Given the description of an element on the screen output the (x, y) to click on. 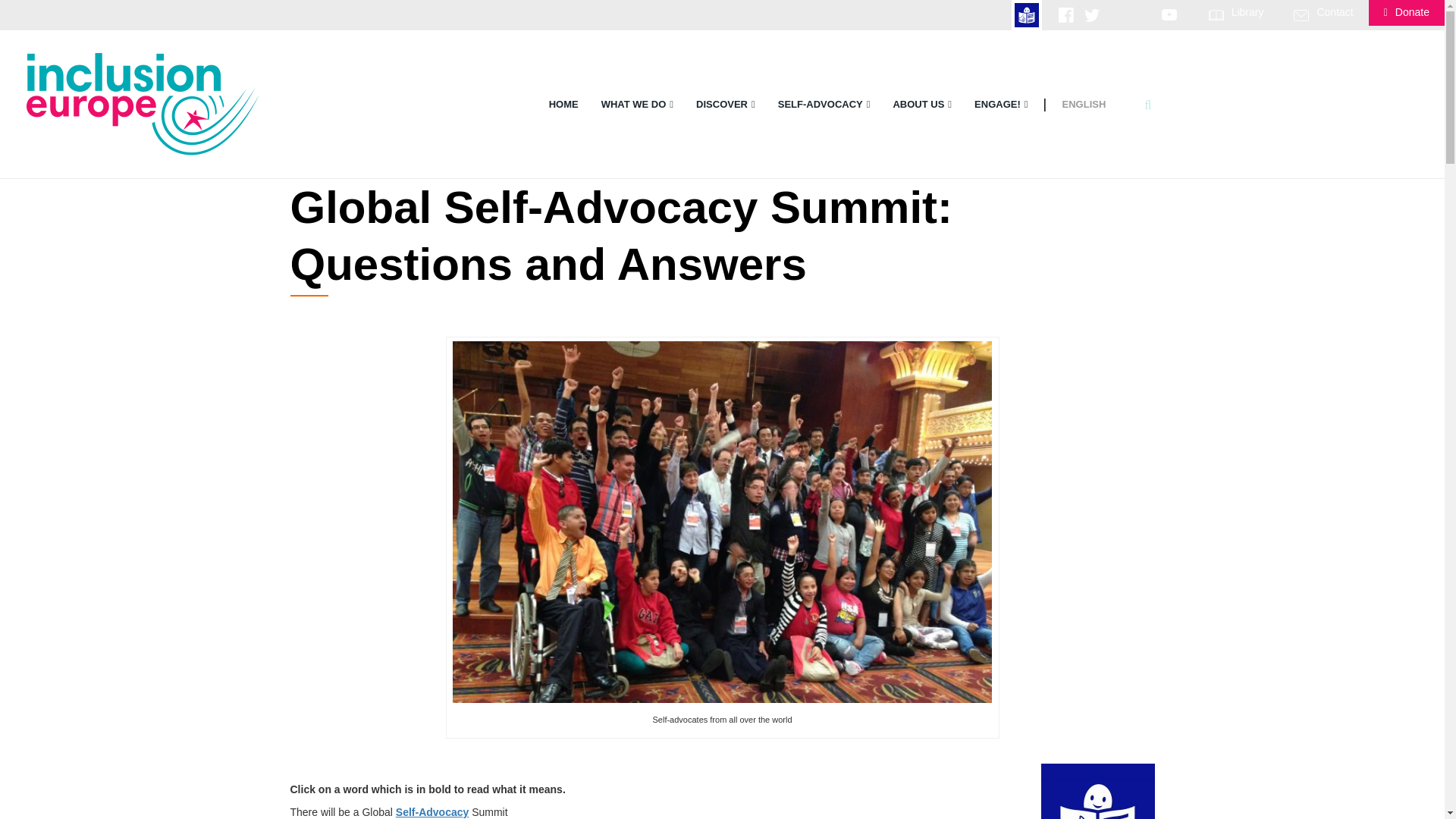
Facebook (1066, 14)
YouTube (1168, 14)
library (1216, 14)
Linkedin (1143, 14)
Instagram (1117, 14)
Contact (1334, 11)
Twitter (1091, 14)
Donate (1406, 11)
contact (1301, 14)
Library (1247, 11)
easy-to-read (1026, 15)
